Given the description of an element on the screen output the (x, y) to click on. 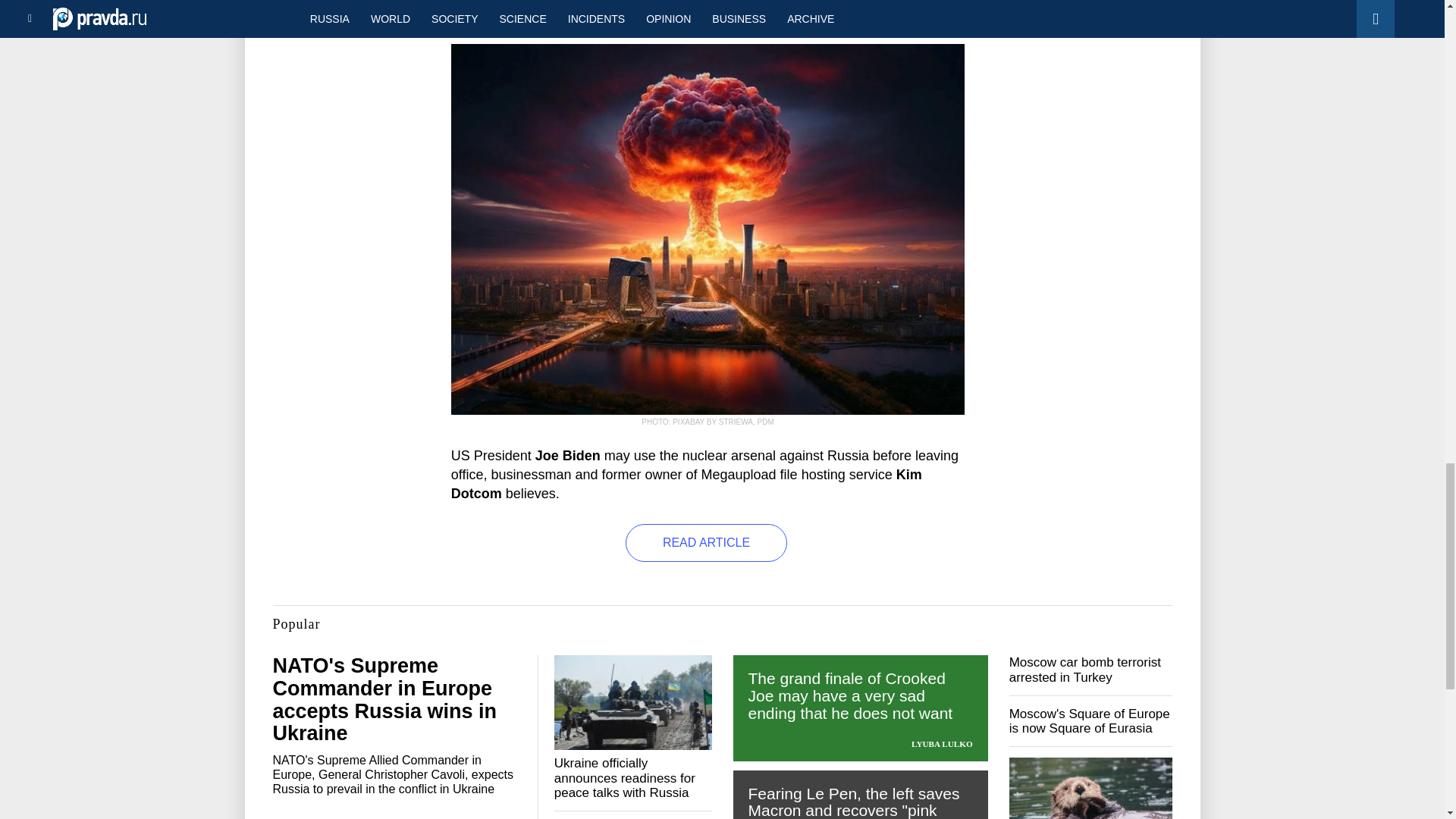
Published (486, 12)
